Given the description of an element on the screen output the (x, y) to click on. 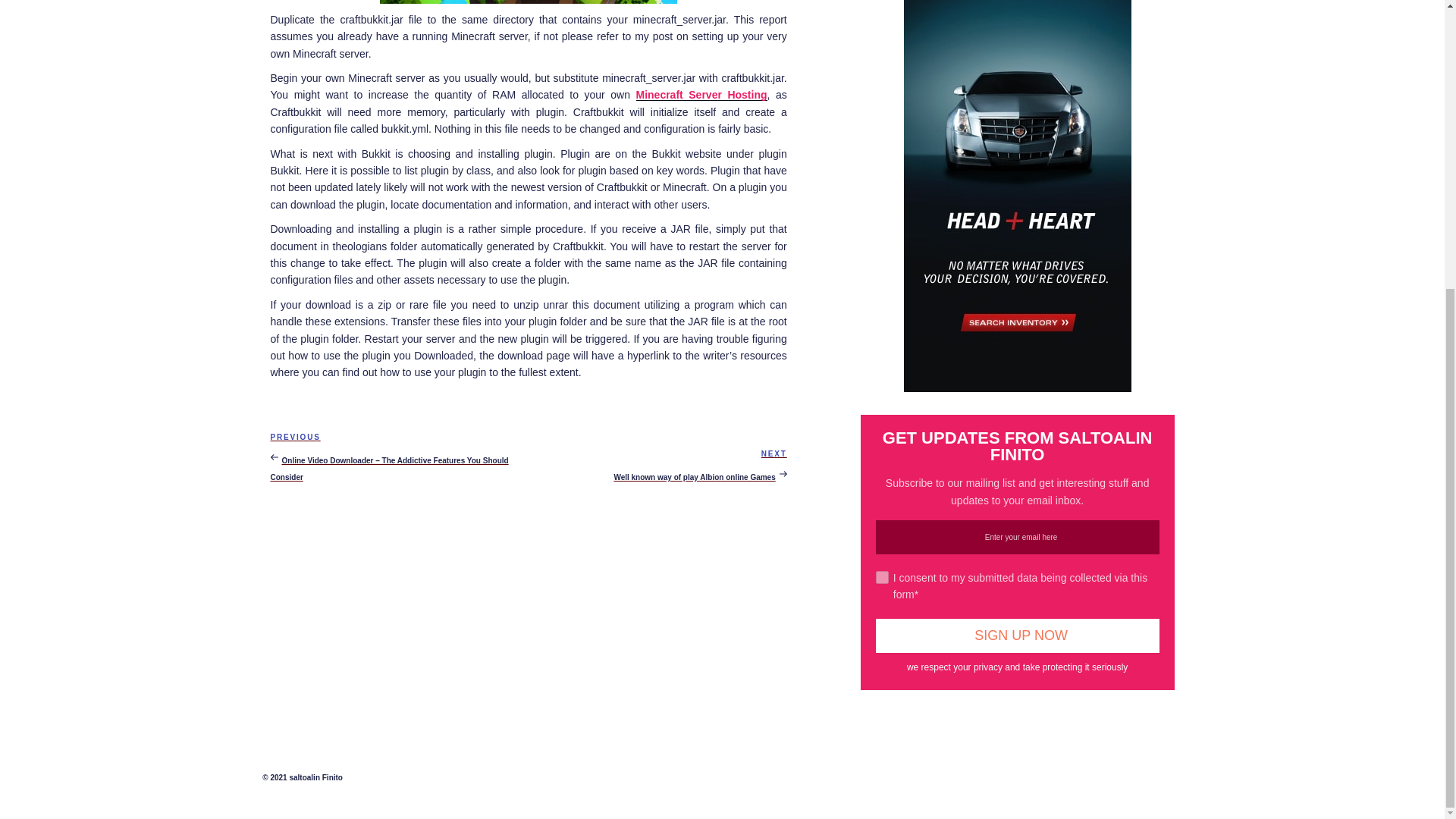
Sign Up Now (657, 464)
on (1017, 635)
Sign Up Now (882, 576)
Minecraft Server Hosting (1017, 635)
